Given the description of an element on the screen output the (x, y) to click on. 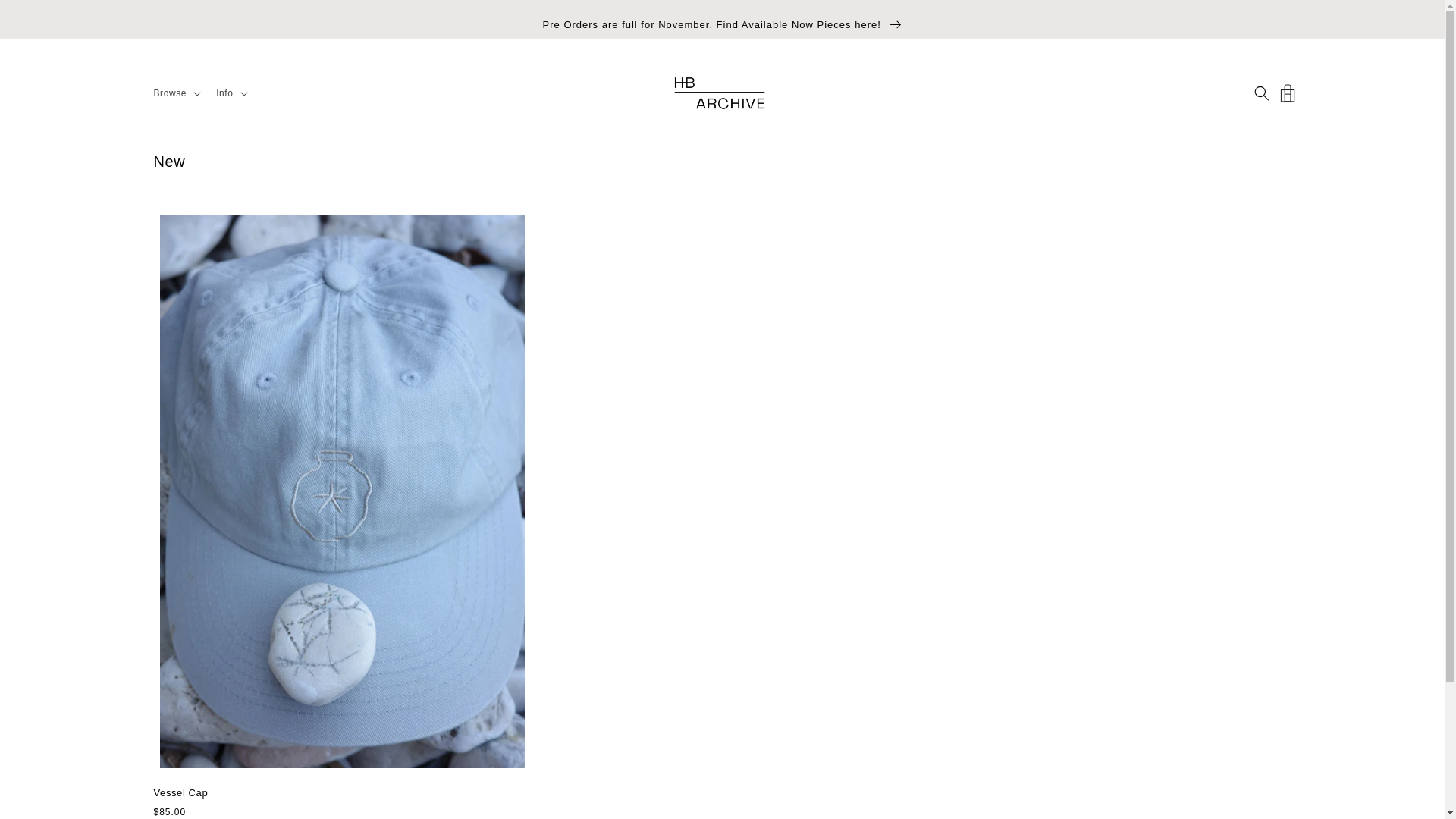
Vessel Cap Element type: text (341, 793)
Cart Element type: text (1286, 93)
